Given the description of an element on the screen output the (x, y) to click on. 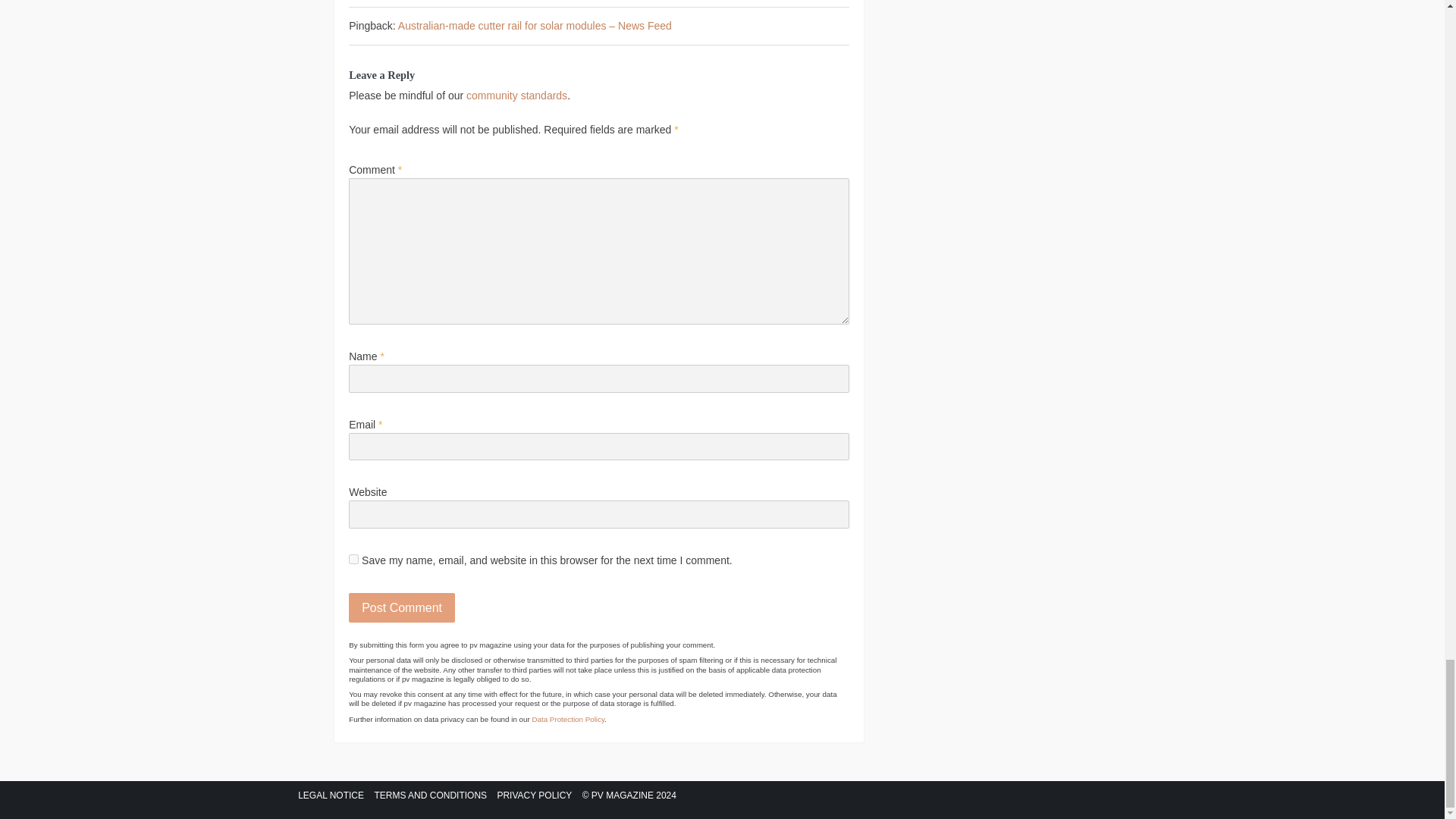
Post Comment (401, 607)
yes (353, 559)
